Given the description of an element on the screen output the (x, y) to click on. 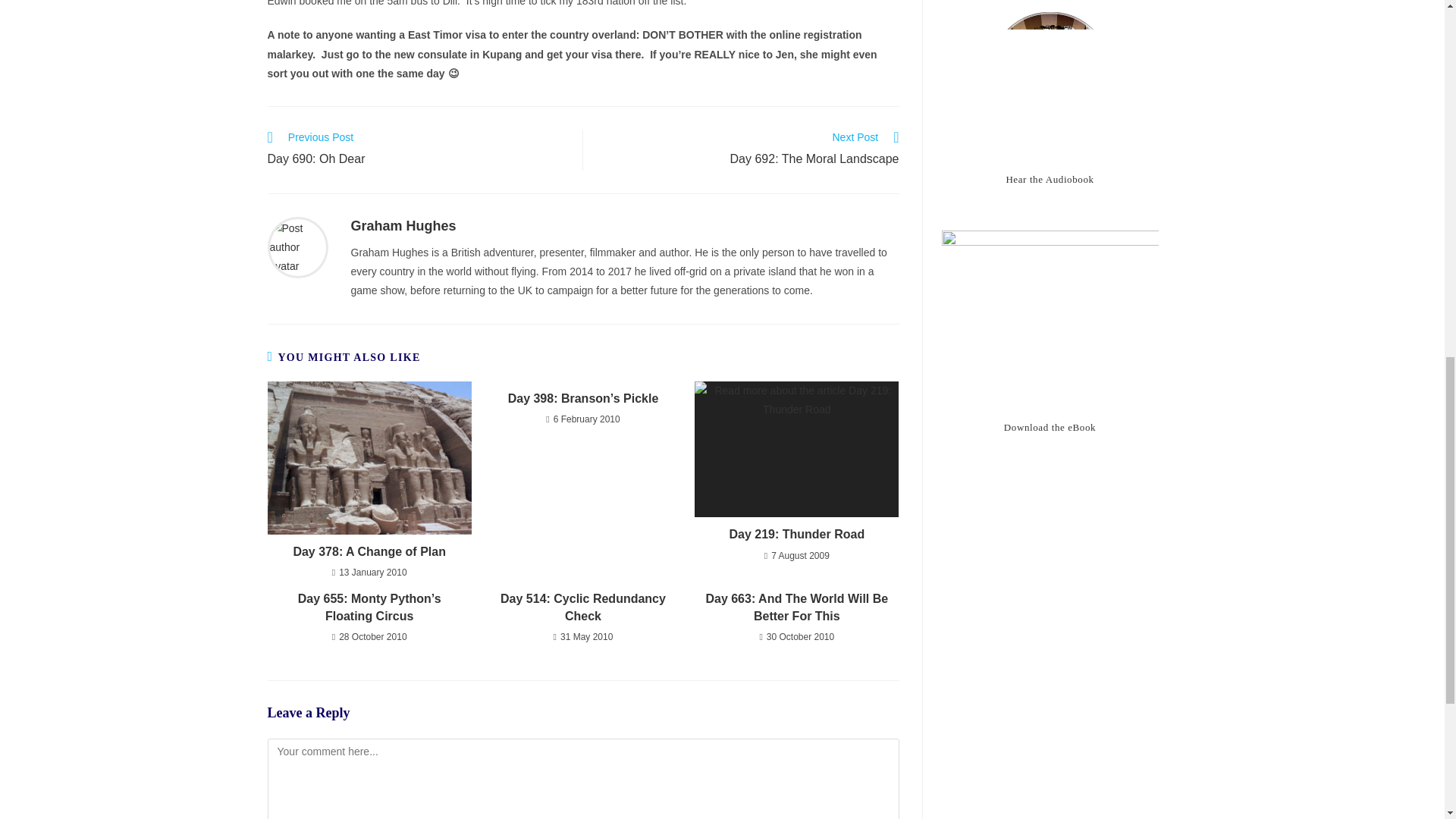
Visit author page (402, 225)
Visit author page (296, 246)
